Given the description of an element on the screen output the (x, y) to click on. 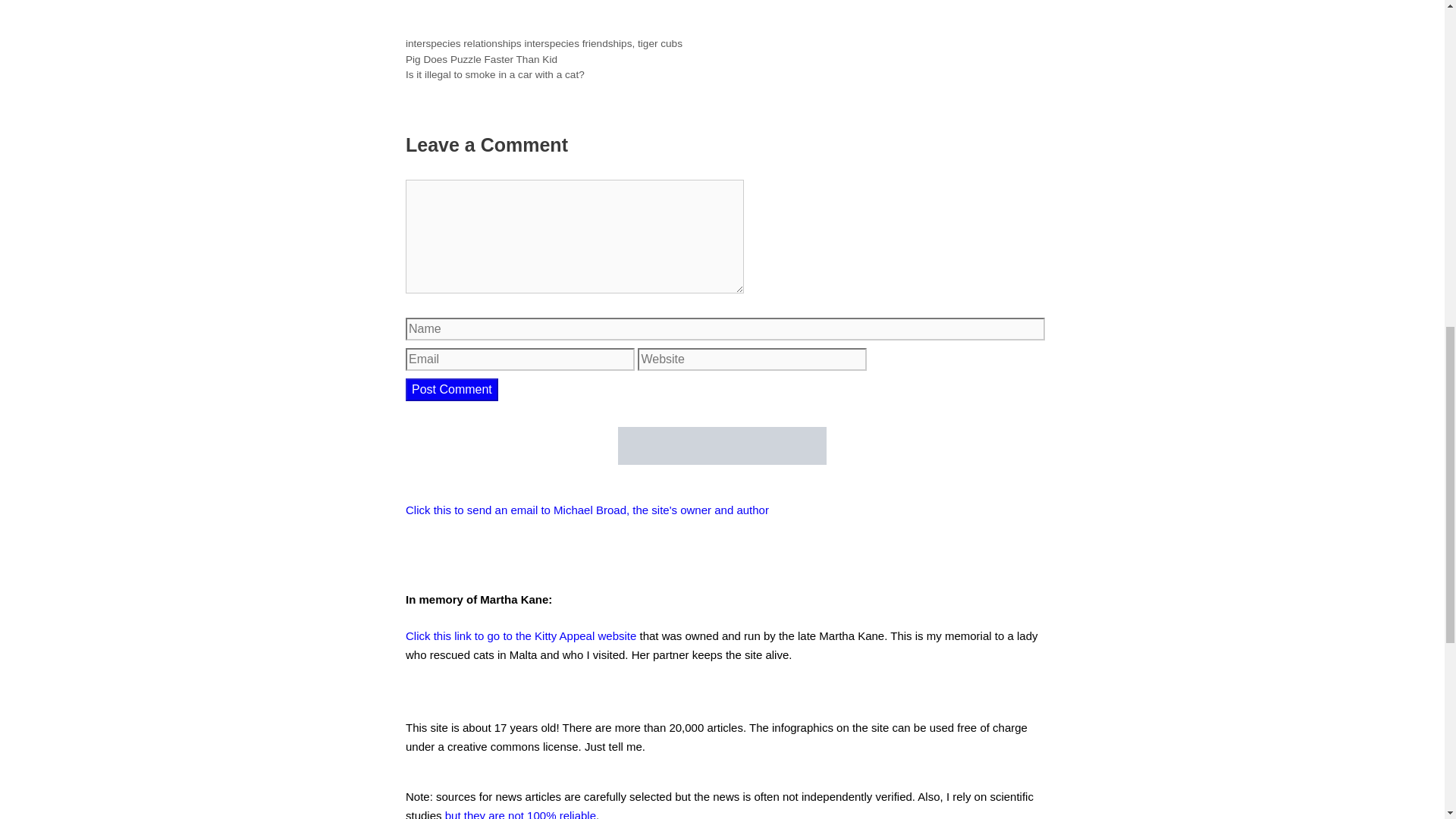
Pig Does Puzzle Faster Than Kid (481, 59)
Is it illegal to smoke in a car with a cat? (495, 74)
interspecies relationships (463, 43)
Post Comment (451, 389)
tiger cubs (659, 43)
interspecies friendships (577, 43)
